Given the description of an element on the screen output the (x, y) to click on. 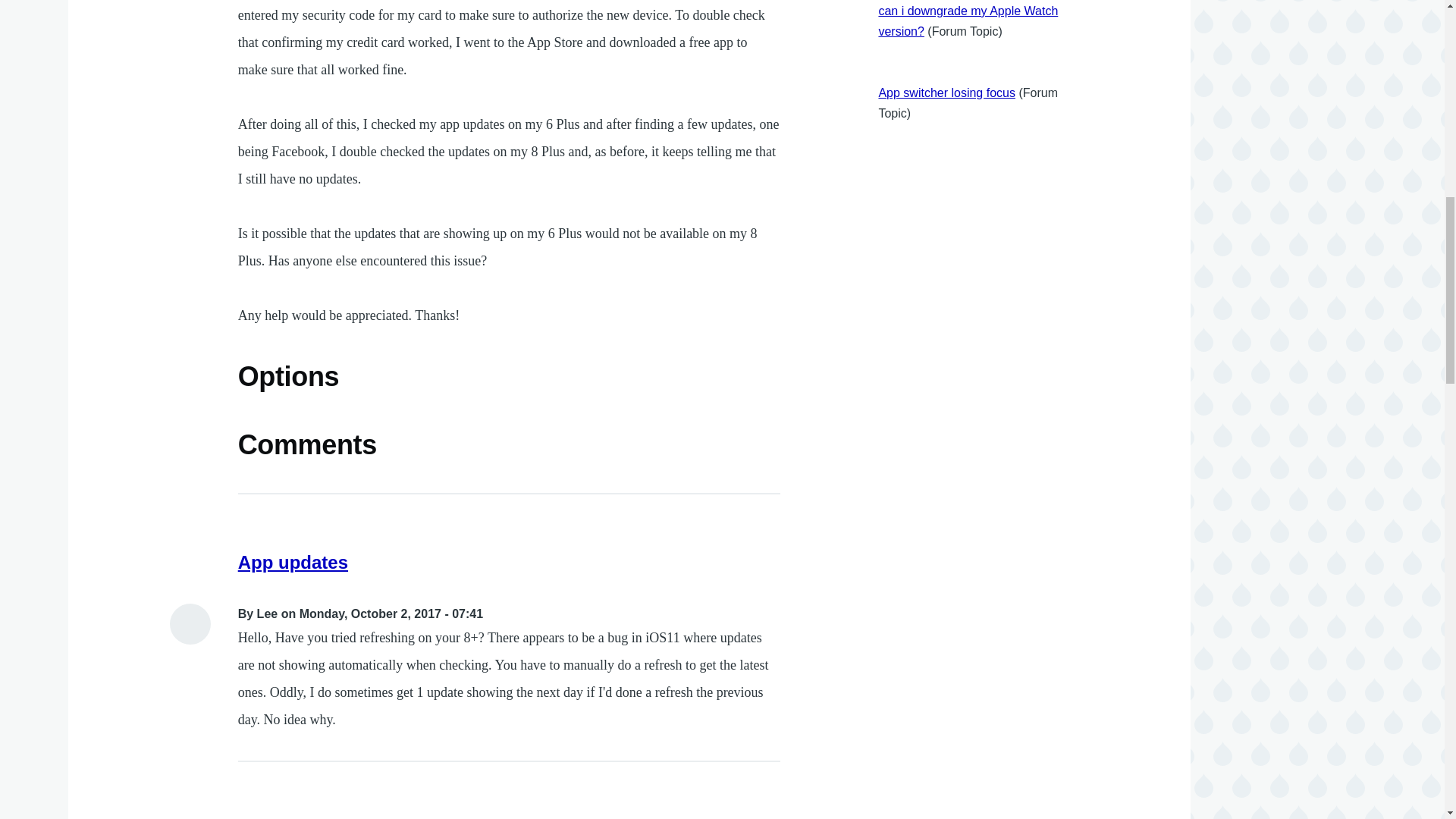
App switcher losing focus (945, 92)
can i downgrade my Apple Watch version? (967, 20)
App updates (292, 562)
